Given the description of an element on the screen output the (x, y) to click on. 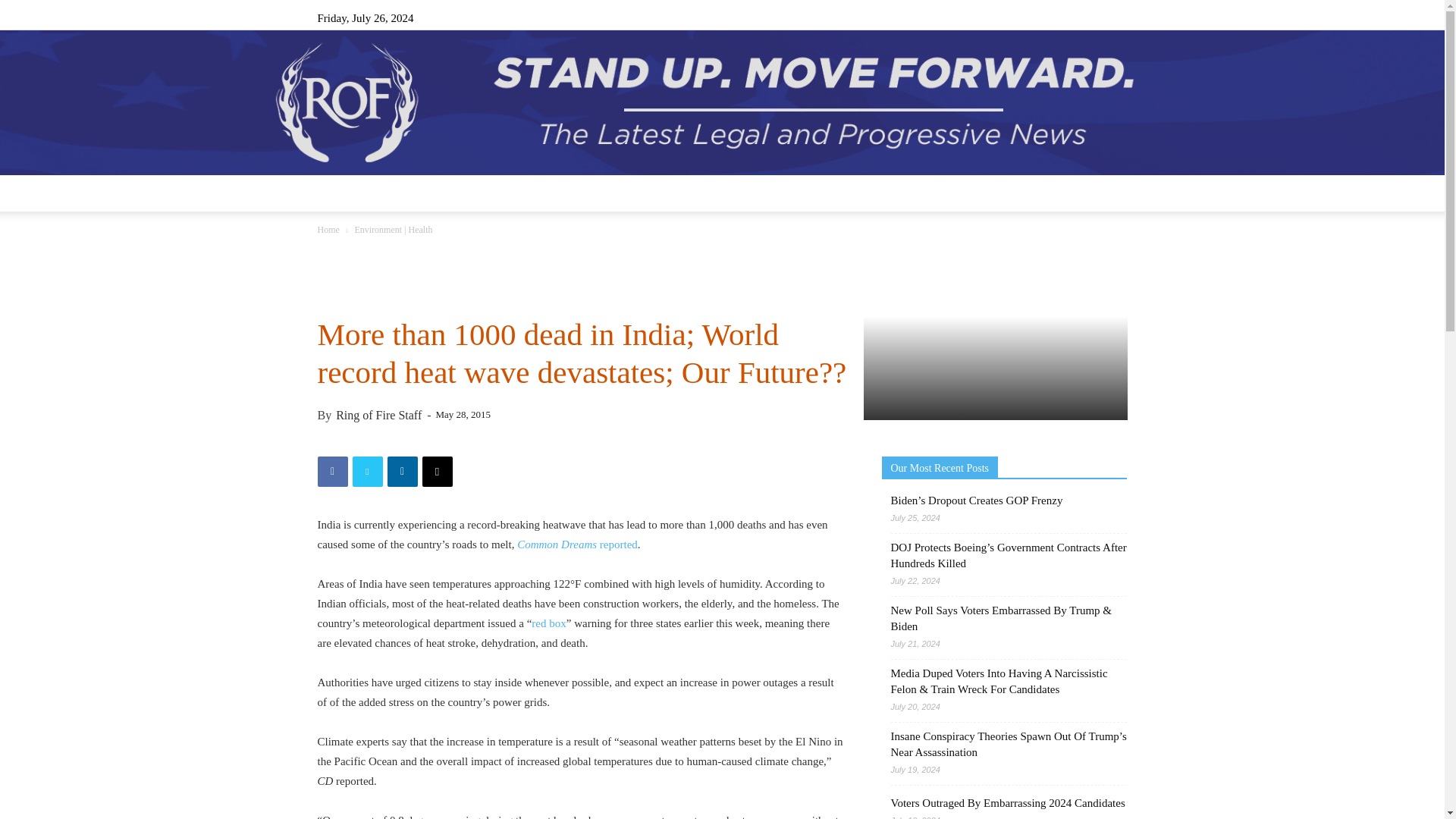
RSS (1065, 17)
Twitter (1090, 17)
Facebook (1015, 17)
Instagram (1040, 17)
Youtube (1114, 17)
